Given the description of an element on the screen output the (x, y) to click on. 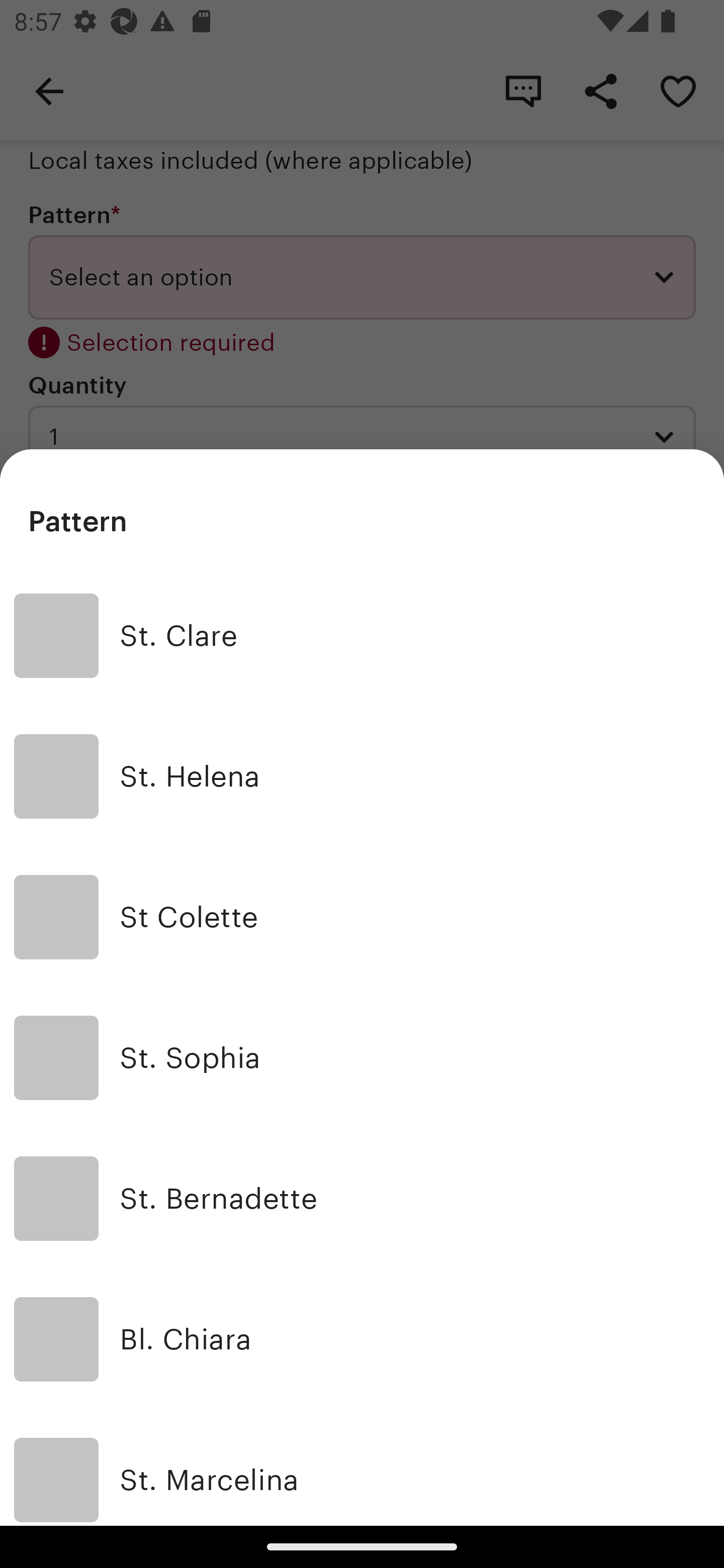
St. Clare (362, 635)
St. Helena (362, 775)
St Colette (362, 916)
St. Sophia (362, 1057)
St. Bernadette (362, 1198)
Bl. Chiara (362, 1338)
St. Marcelina (362, 1467)
